Given the description of an element on the screen output the (x, y) to click on. 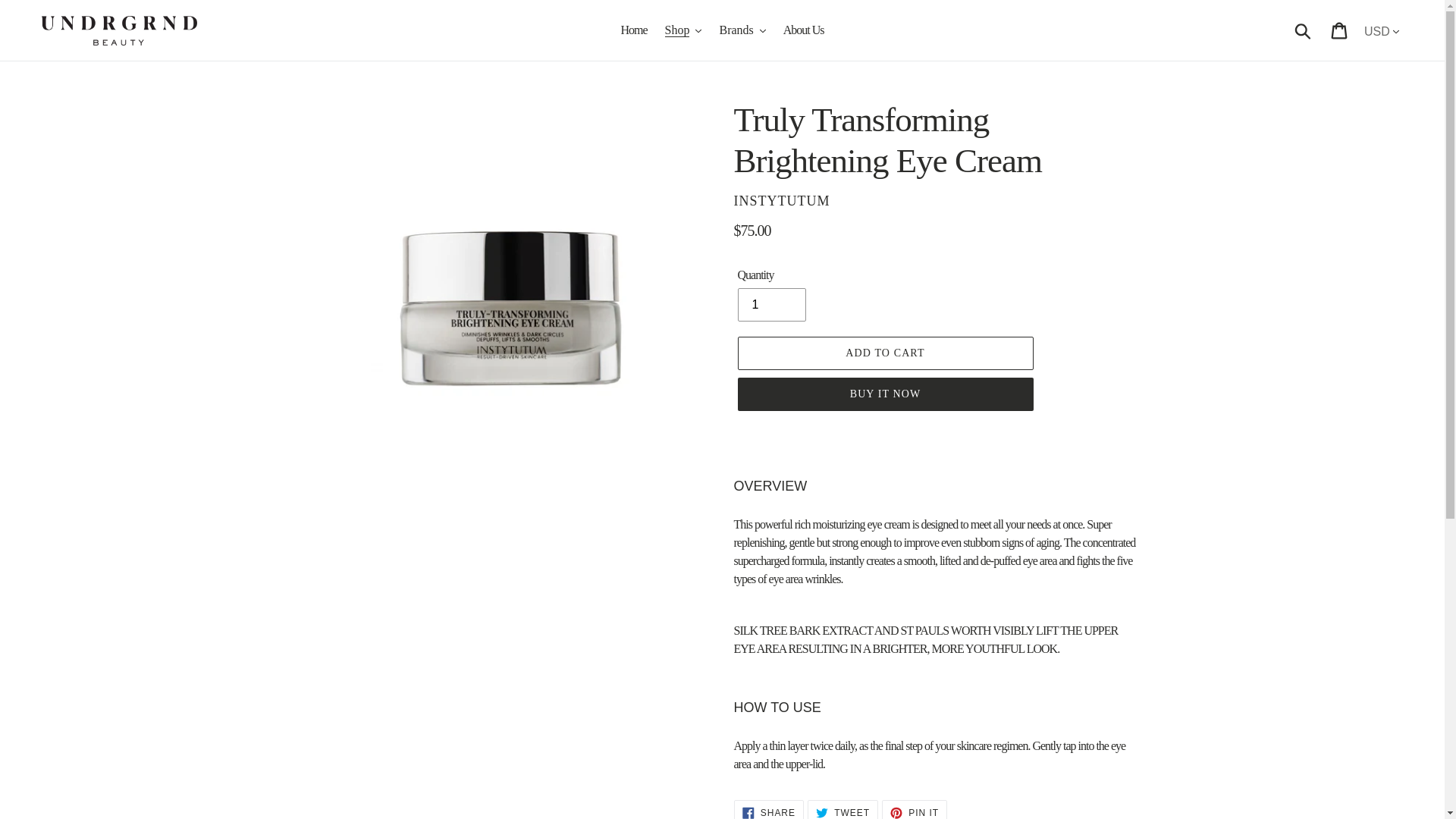
Home (632, 29)
Submit (1303, 29)
About Us (803, 29)
Cart (1340, 30)
1 (770, 304)
